Given the description of an element on the screen output the (x, y) to click on. 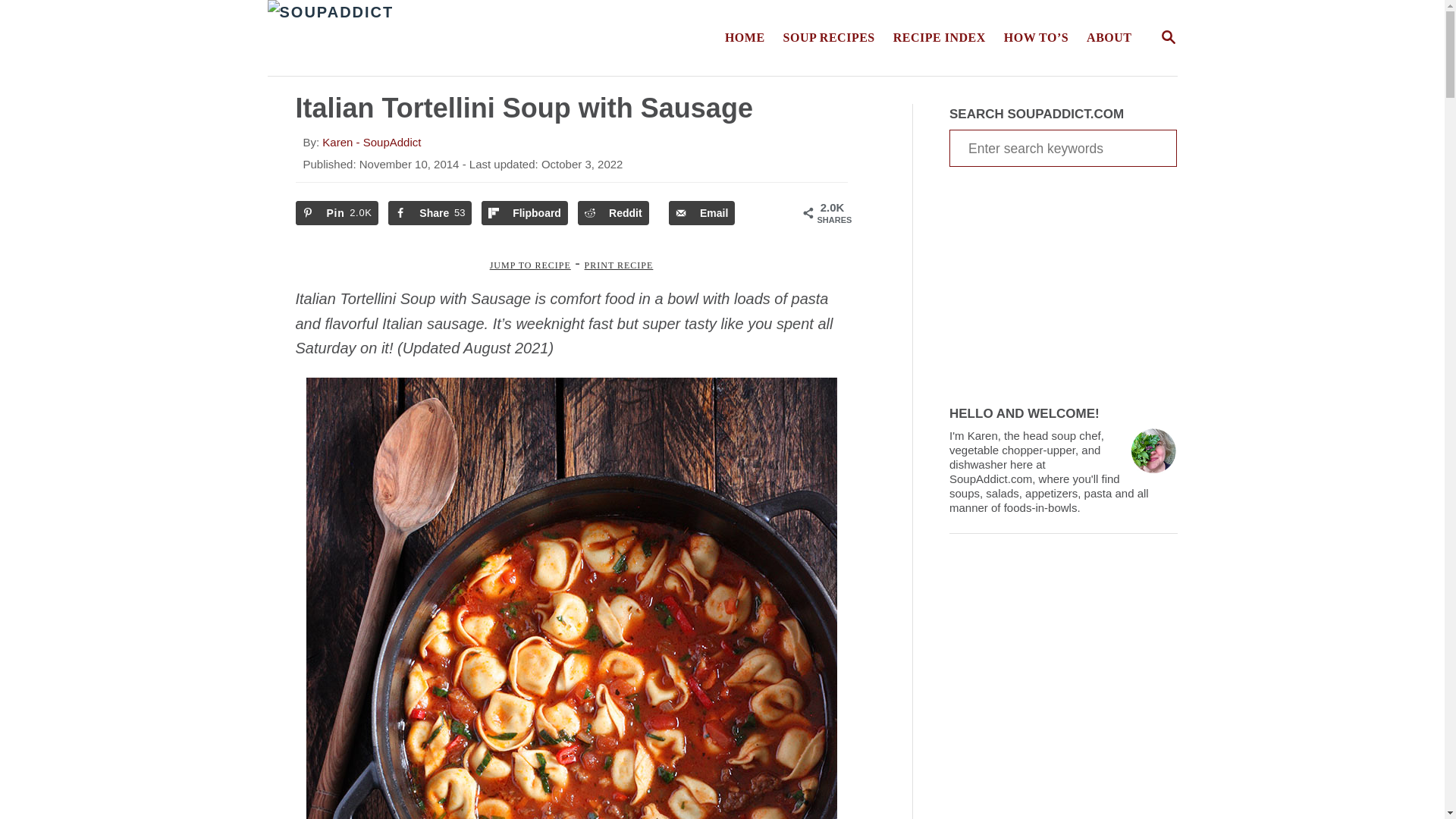
JUMP TO RECIPE (529, 265)
Share on Flipboard (524, 212)
Share on Facebook (429, 212)
SOUP RECIPES (1168, 37)
RECIPE INDEX (828, 37)
MAGNIFYING GLASS (938, 37)
Search for: (1167, 36)
Recipes (1062, 148)
Send over email (938, 37)
HOME (701, 212)
SoupAddict (745, 37)
Save to Pinterest (435, 38)
Share on Reddit (336, 212)
